Given the description of an element on the screen output the (x, y) to click on. 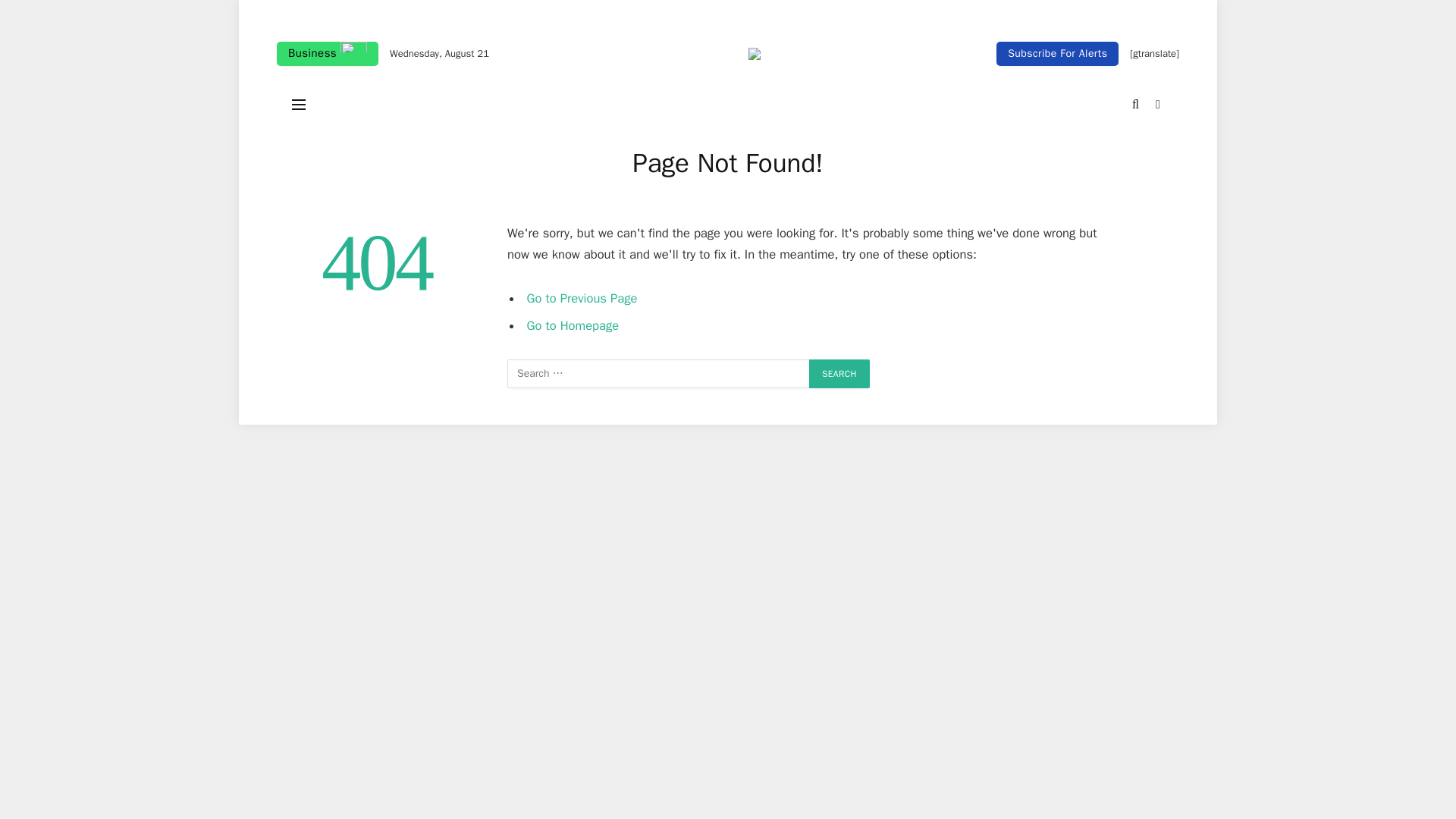
Business (327, 53)
Search (839, 373)
Subscribe For Alerts (1056, 53)
Go to Previous Page (582, 298)
Search (839, 373)
Search (839, 373)
Switch to Dark Design - easier on eyes. (1155, 104)
Go to Homepage (573, 324)
